Given the description of an element on the screen output the (x, y) to click on. 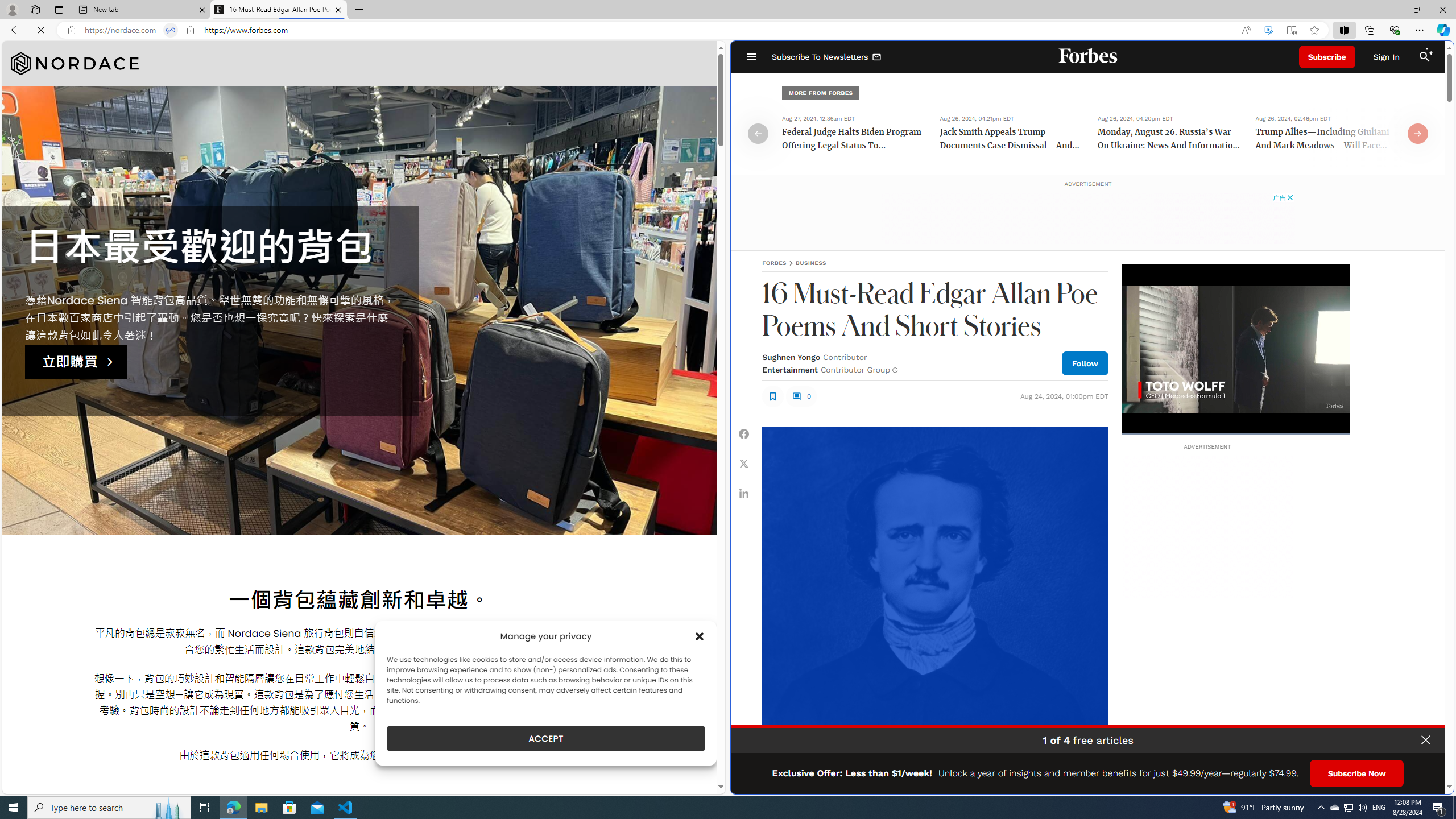
Follow Author (1084, 363)
Subscribe (1326, 56)
Portrait of Edgar Allan Poe. (934, 600)
Arrow Left (758, 133)
Class: sElHJWe4 (772, 396)
Share Linkedin (743, 493)
Enhance video (1268, 29)
